Given the description of an element on the screen output the (x, y) to click on. 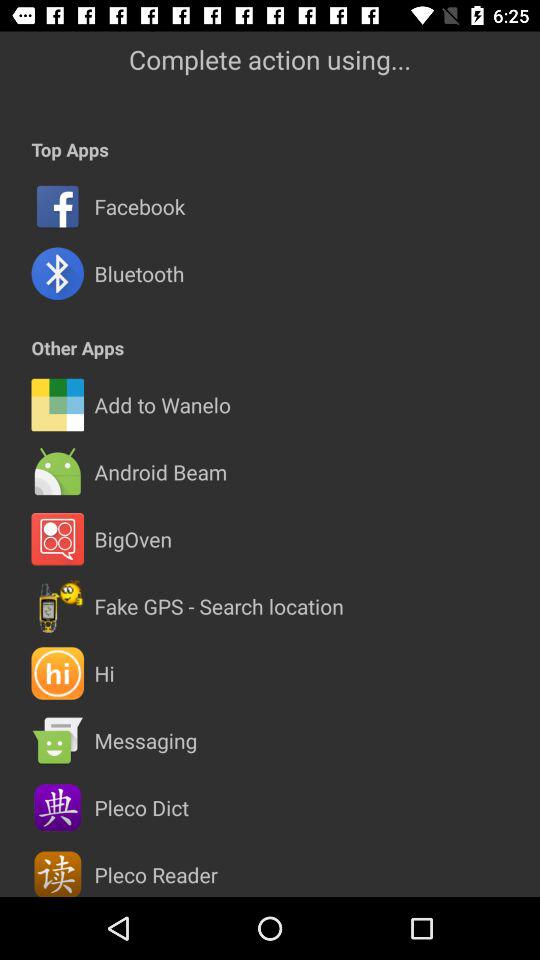
choose icon above the other apps icon (139, 273)
